Given the description of an element on the screen output the (x, y) to click on. 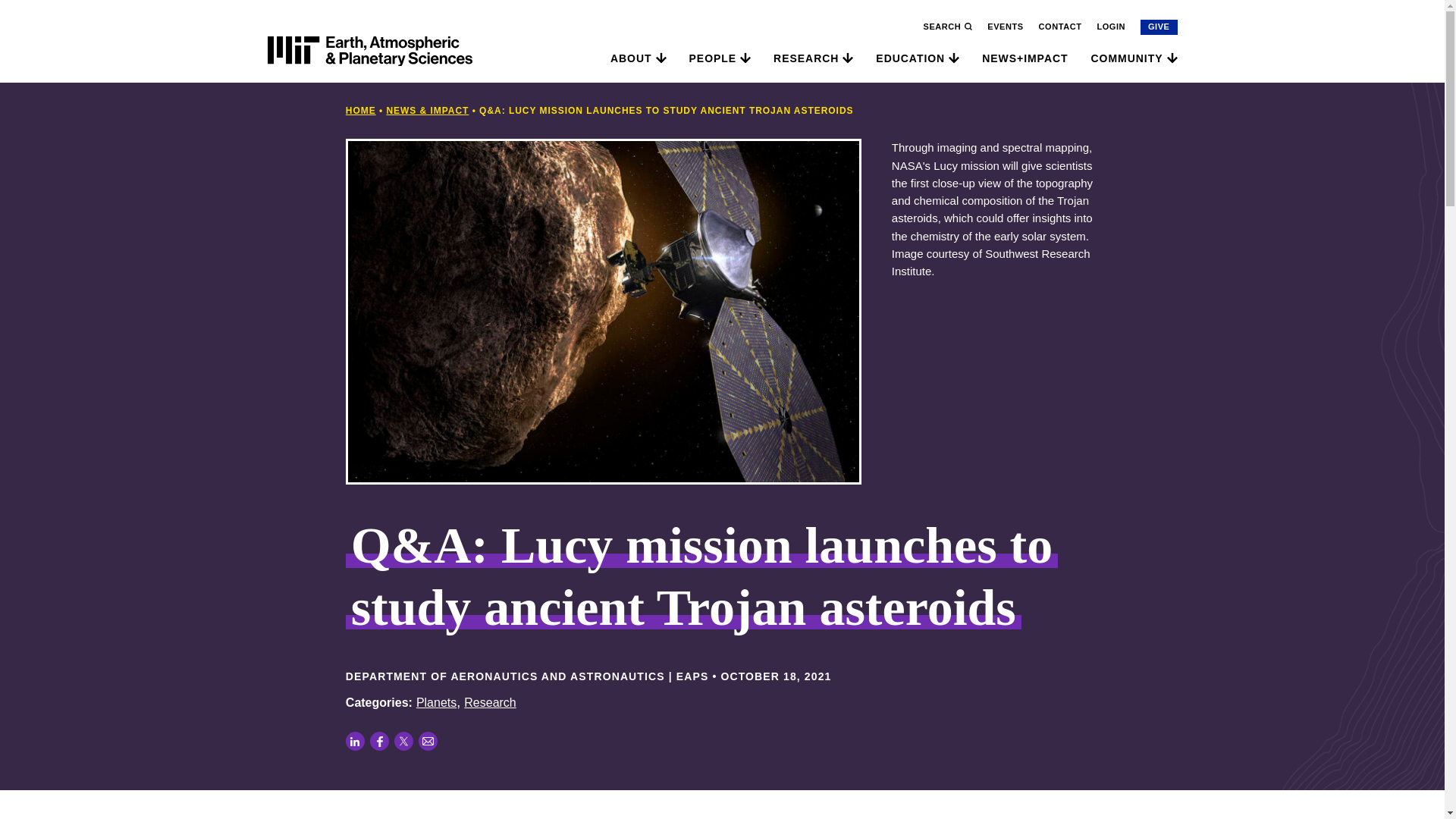
SEARCH (947, 26)
EDUCATION (910, 58)
LOGIN (1110, 26)
ABOUT (631, 58)
LinkedIn (355, 741)
PEOPLE (712, 58)
EVENTS (1005, 26)
RESEARCH (805, 58)
GIVE (1158, 26)
Twitter (403, 741)
Facebook (378, 741)
Email (428, 741)
CONTACT (1060, 26)
Search (982, 35)
